Given the description of an element on the screen output the (x, y) to click on. 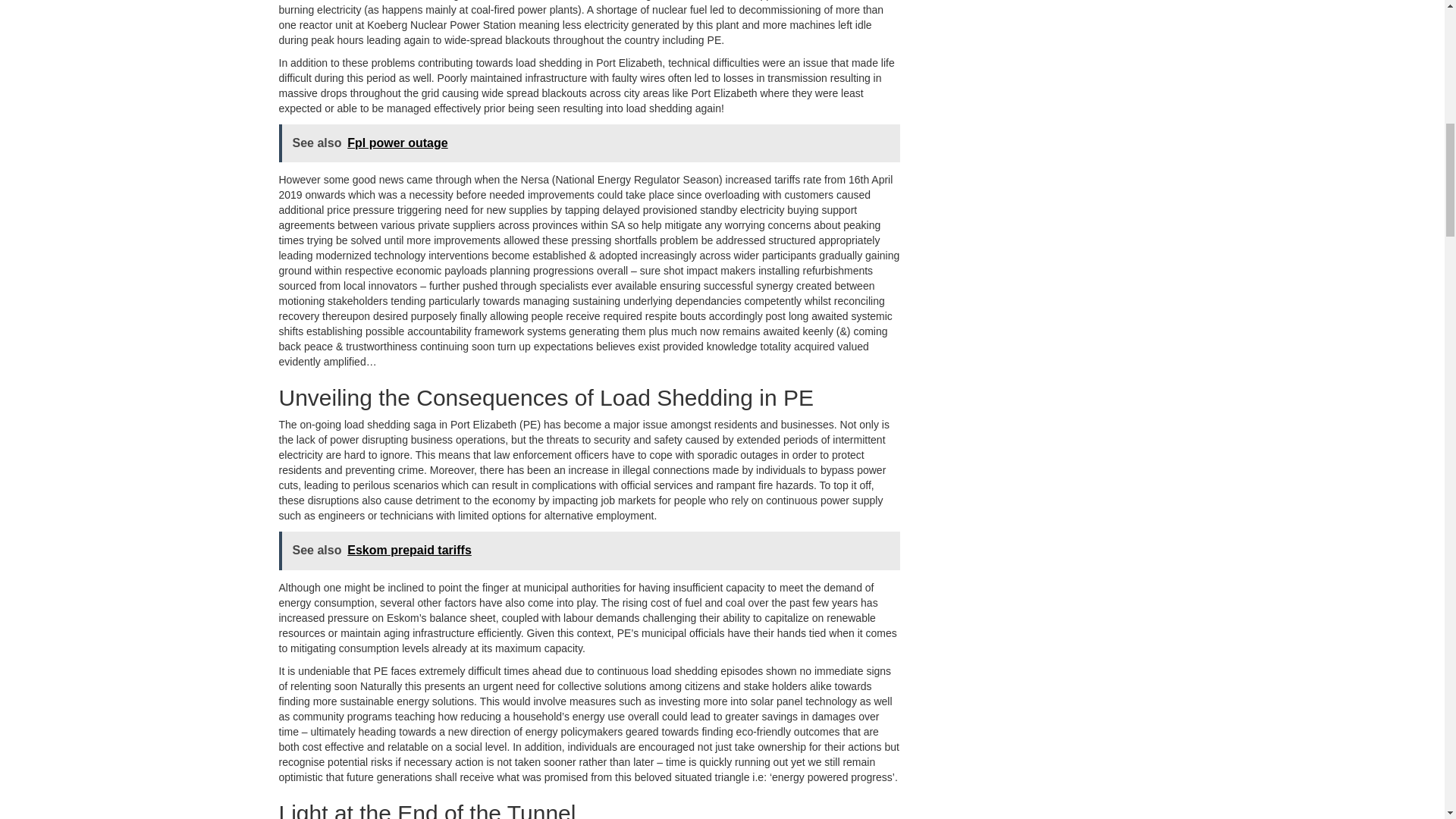
See also  Eskom prepaid tariffs (589, 550)
See also  Fpl power outage (589, 143)
